Given the description of an element on the screen output the (x, y) to click on. 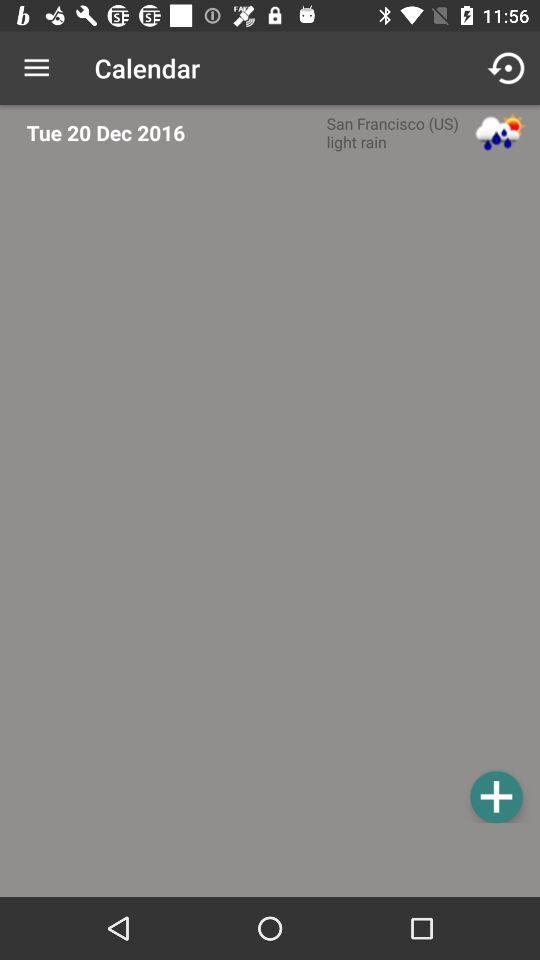
zoom in button (276, 494)
